Given the description of an element on the screen output the (x, y) to click on. 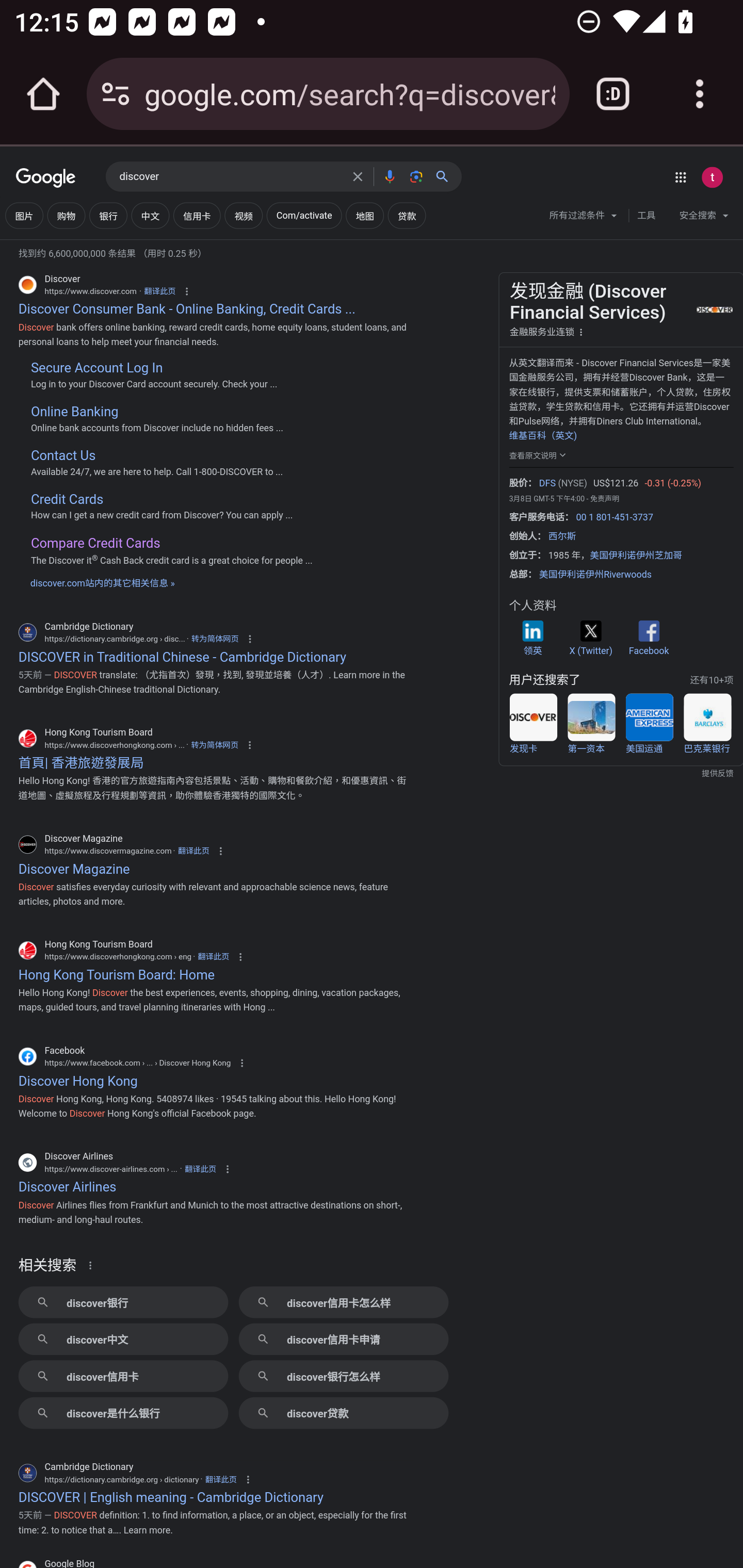
Open the home page (43, 93)
Connection is secure (115, 93)
Switch or close tabs (612, 93)
Customize and control Google Chrome (699, 93)
清除 (357, 176)
按语音搜索 (389, 176)
按图搜索 (415, 176)
搜索 (446, 176)
Google 应用 (680, 176)
Google 账号： test appium (testappium002@gmail.com) (712, 176)
Google (45, 178)
discover (229, 177)
图片 (24, 215)
购物 (65, 215)
添加“银行” 银行 (107, 215)
添加“中文” 中文 (149, 215)
添加“信用卡” 信用卡 (196, 215)
视频 (243, 215)
添加“Com/activate” Com/activate (303, 215)
地图 (364, 215)
添加“贷款” 贷款 (406, 215)
所有过滤条件 (583, 217)
工具 (646, 215)
安全搜索 (703, 217)
翻译此页 (159, 291)
“发现金融 (Discover Financial Services)”的缩略图图片 (713, 309)
更多选项 (580, 331)
Secure Account Log In (95, 368)
Online Banking (73, 412)
维基百科（英文) (542, 435)
Contact Us (62, 456)
查看原文说明 (538, 454)
DFS (546, 483)
Credit Cards (66, 499)
免责声明 (604, 498)
拨打电话 00 1 801-451-3737 (614, 516)
西尔斯 (562, 534)
Compare Credit Cards (94, 542)
美国伊利诺伊州芝加哥 (635, 555)
美国伊利诺伊州Riverwoods (595, 574)
discover.com站内的其它相关信息 » (102, 583)
领英 (532, 637)
X (Twitter) (590, 637)
Facebook (648, 637)
转为简体网页 (214, 638)
用户还搜索了 (544, 679)
还有10+项 (711, 680)
发现卡 (532, 724)
第一资本 (590, 724)
美国运通 (648, 724)
巴克莱银行 (706, 724)
转为简体网页 (214, 744)
提供反馈 (620, 773)
翻译此页 (192, 849)
翻译此页 (213, 956)
翻译此页 (200, 1169)
关于这条结果的详细信息 (93, 1264)
discover银行 (122, 1301)
discover信用卡怎么样 (343, 1301)
discover中文 (122, 1338)
discover信用卡申请 (343, 1338)
discover信用卡 (122, 1375)
discover银行怎么样 (343, 1375)
discover是什么银行 (122, 1413)
discover贷款 (343, 1413)
翻译此页 (220, 1479)
